Given the description of an element on the screen output the (x, y) to click on. 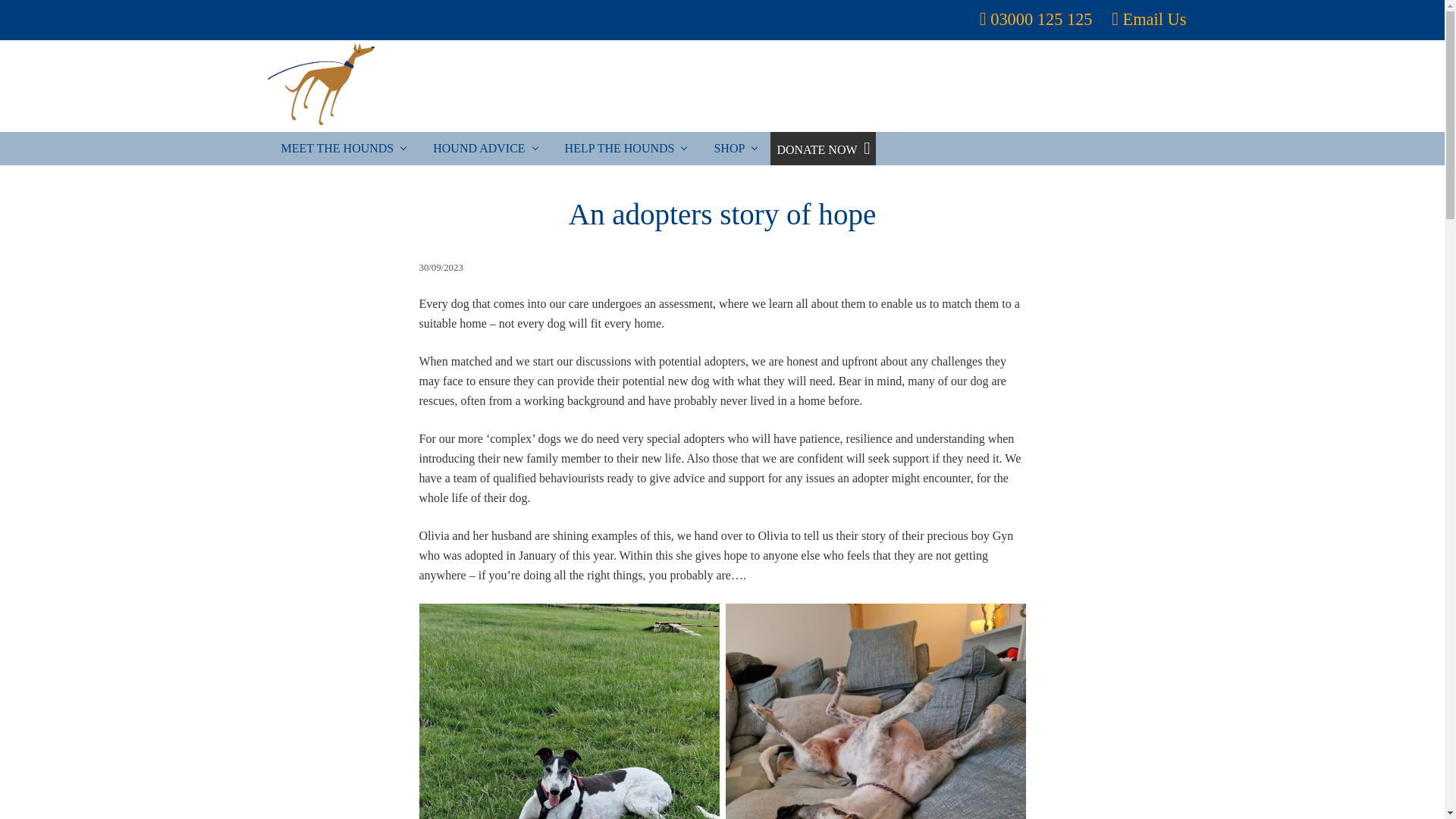
Email Us (1154, 18)
03000 125 125 (1041, 18)
NEWS (1068, 86)
EVENTS (994, 86)
CONTACT (1147, 86)
ABOUT US (908, 86)
HOME (826, 86)
